Given the description of an element on the screen output the (x, y) to click on. 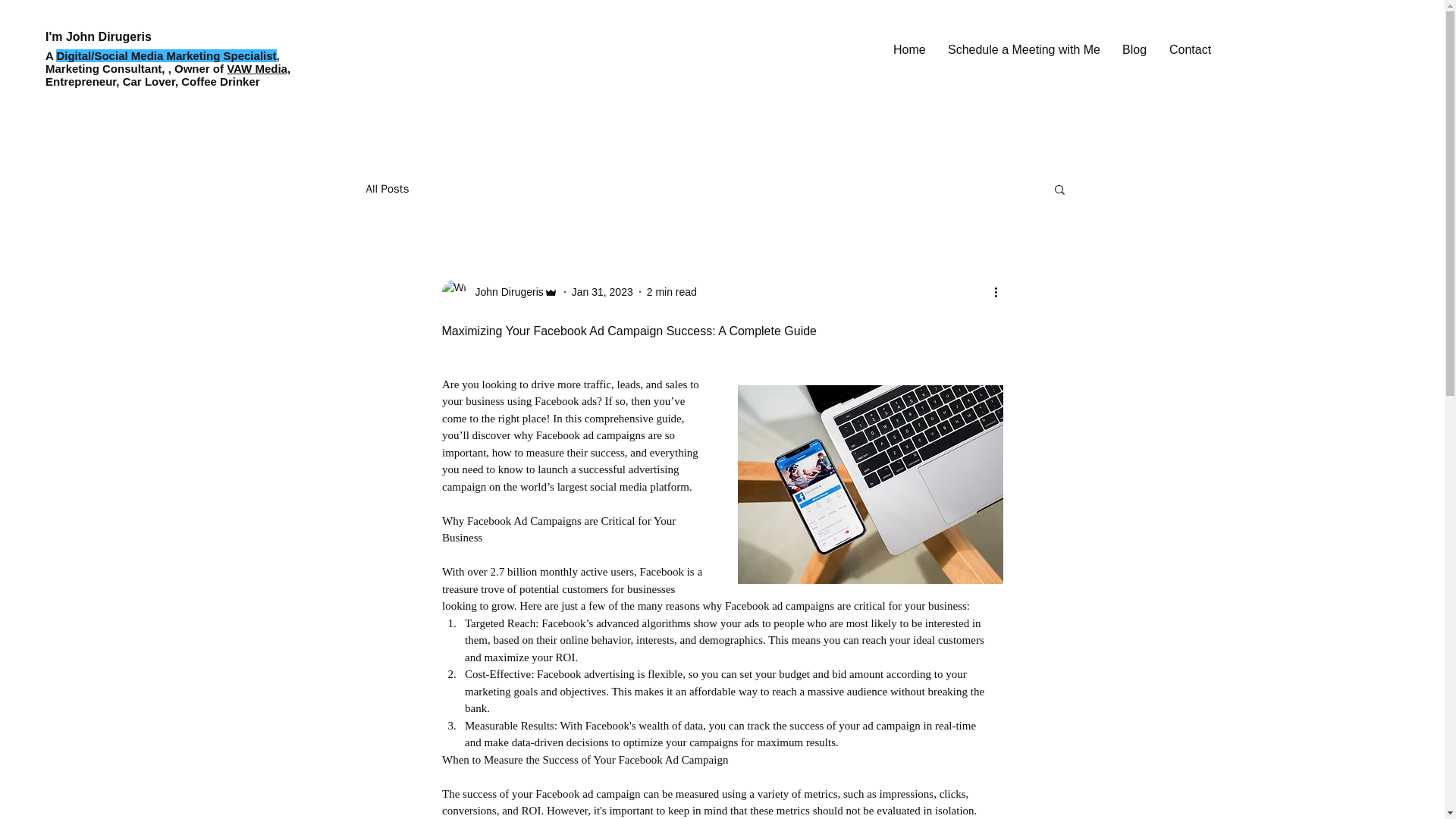
VAW Media (256, 68)
All Posts (387, 188)
Jan 31, 2023 (602, 291)
Contact (1190, 49)
2 min read (671, 291)
John Dirugeris (504, 291)
Home (909, 49)
Schedule a Meeting with Me (1023, 49)
I'm John Dirugeris (98, 36)
Blog (1133, 49)
John Dirugeris (499, 291)
